Given the description of an element on the screen output the (x, y) to click on. 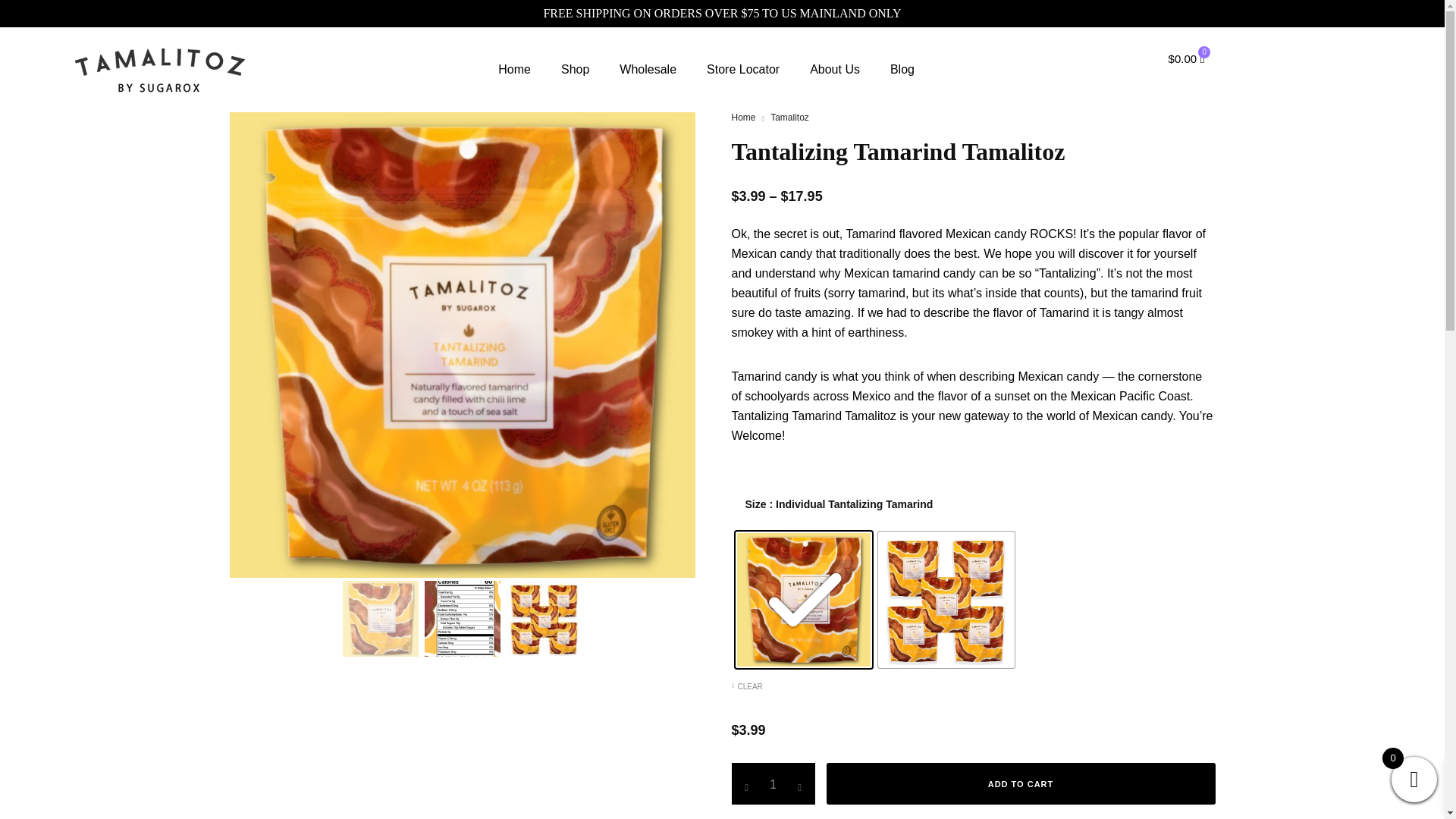
About Us (834, 69)
Individual Tantalizing Tamarind (803, 599)
Tamalitoz (789, 117)
Wholesale (647, 69)
CLEAR (873, 686)
ADD TO CART (1021, 783)
Home (514, 69)
Store Locator (742, 69)
Home (742, 117)
Five Pack Tantalizing Tamarind (945, 599)
1 (771, 783)
